Given the description of an element on the screen output the (x, y) to click on. 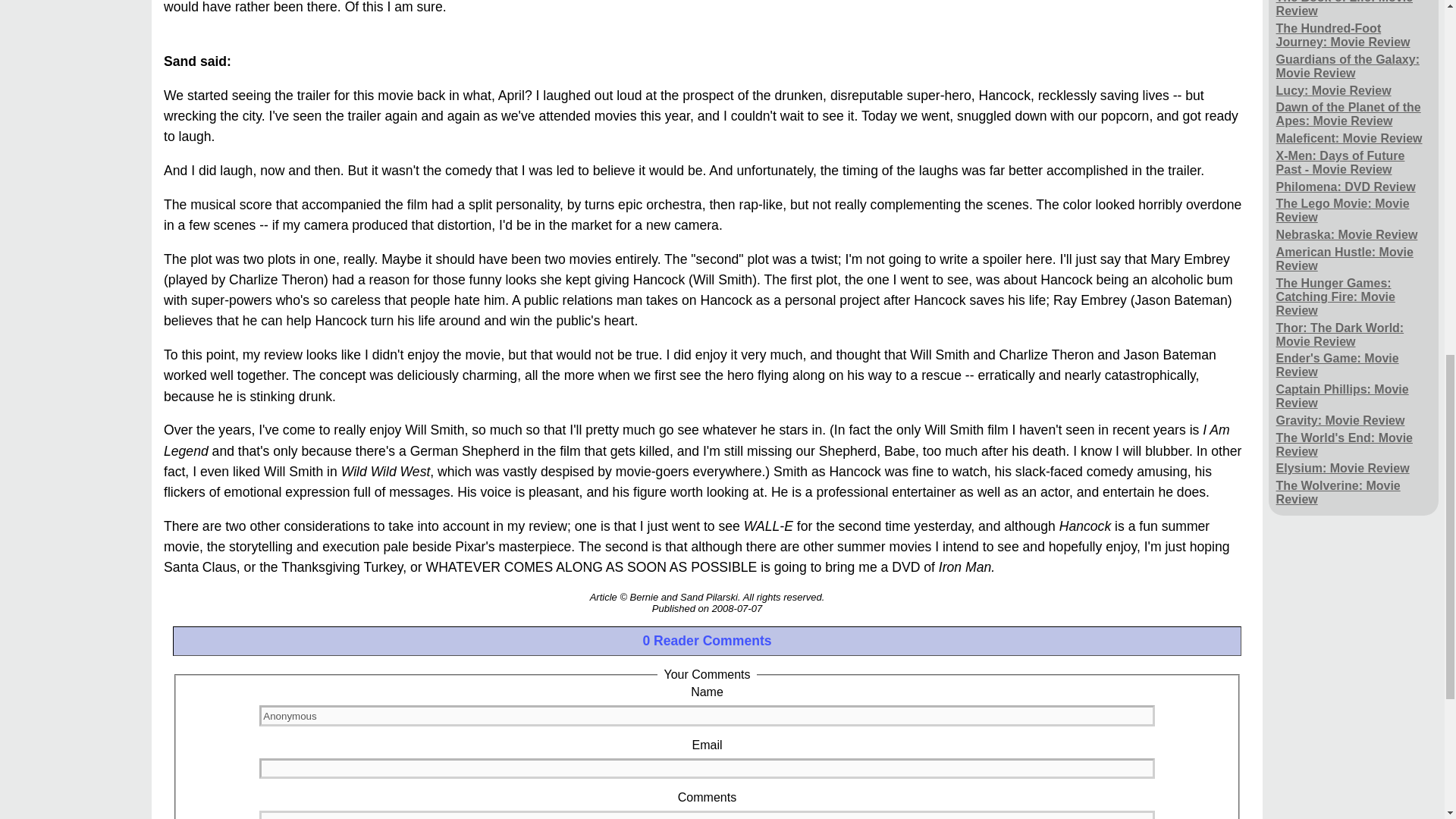
Anonymous (706, 715)
X-Men: Days of Future Past - Movie Review (1353, 162)
Guardians of the Galaxy: Movie Review (1353, 65)
Lucy: Movie Review (1333, 90)
Dawn of the Planet of the Apes: Movie Review (1353, 114)
Maleficent: Movie Review (1349, 139)
Philomena: DVD Review (1345, 186)
The Hundred-Foot Journey: Movie Review (1353, 35)
The Book of Life: Movie Review (1353, 10)
